Given the description of an element on the screen output the (x, y) to click on. 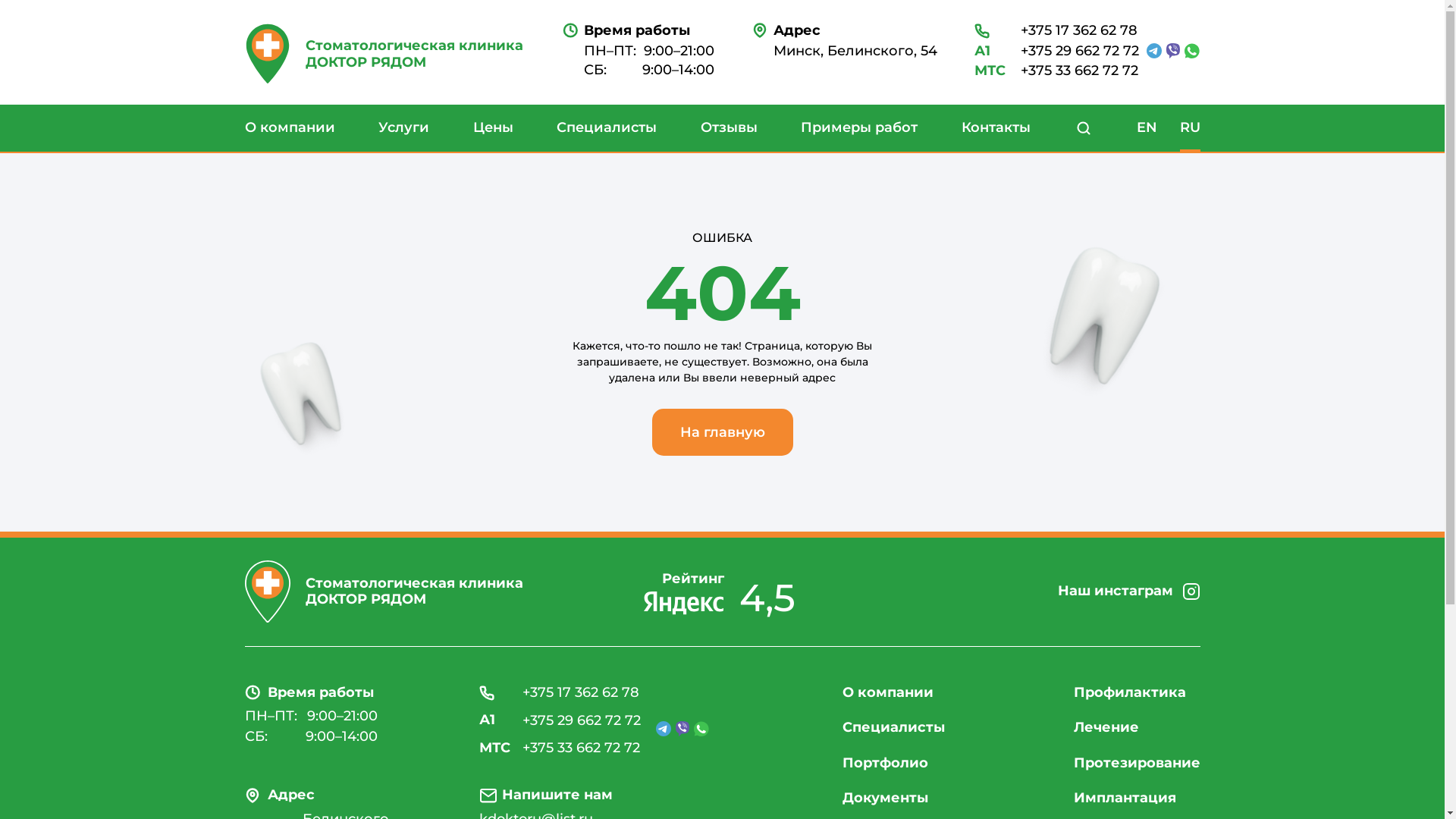
EN Element type: text (1145, 127)
+375 17 362 62 78 Element type: text (559, 692)
+375 17 362 62 78 Element type: text (1055, 30)
RU Element type: text (1189, 127)
